Given the description of an element on the screen output the (x, y) to click on. 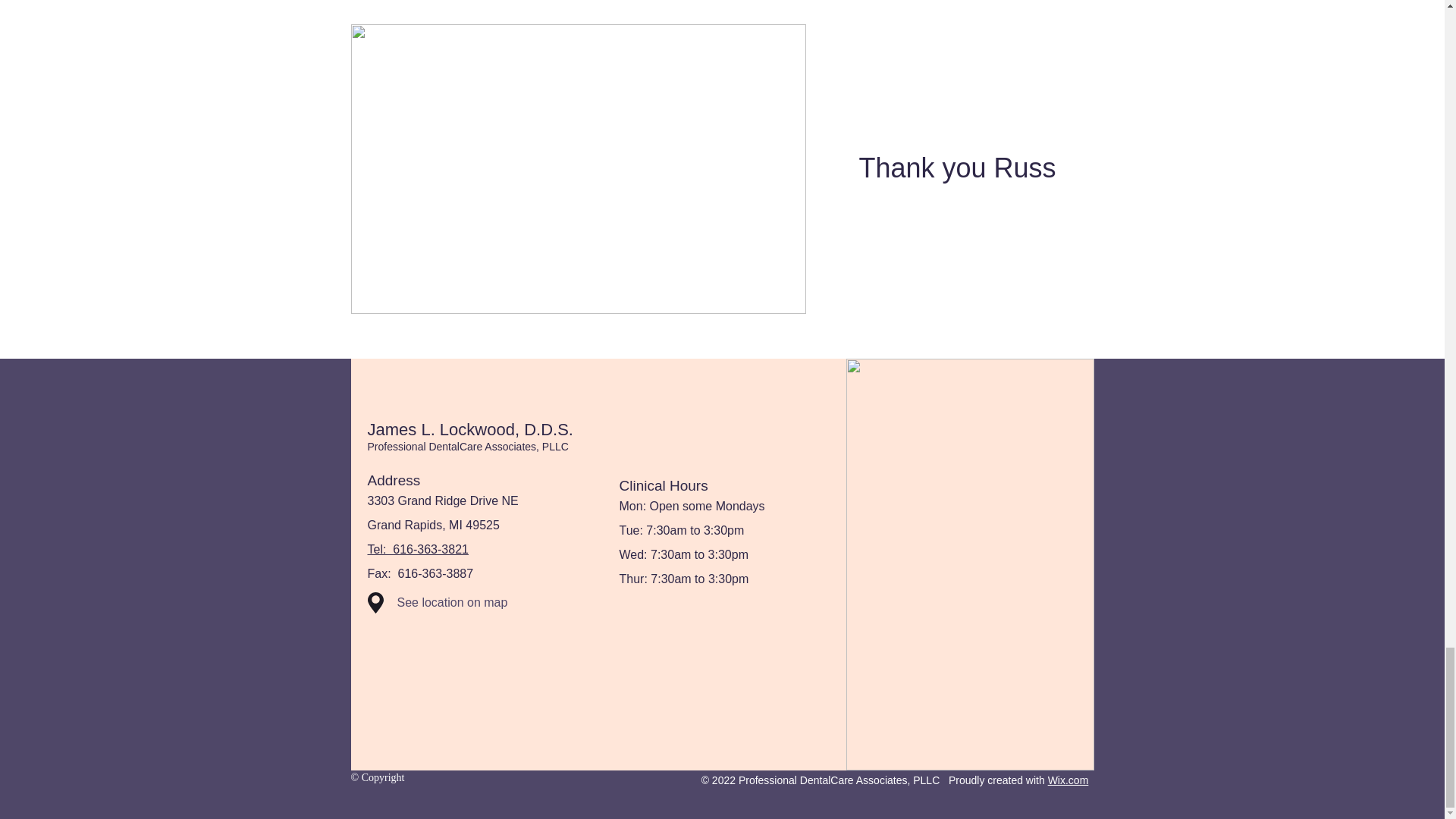
Tel:  616-363-3821 (416, 549)
Wix.com (1068, 779)
See location on map (475, 603)
